Given the description of an element on the screen output the (x, y) to click on. 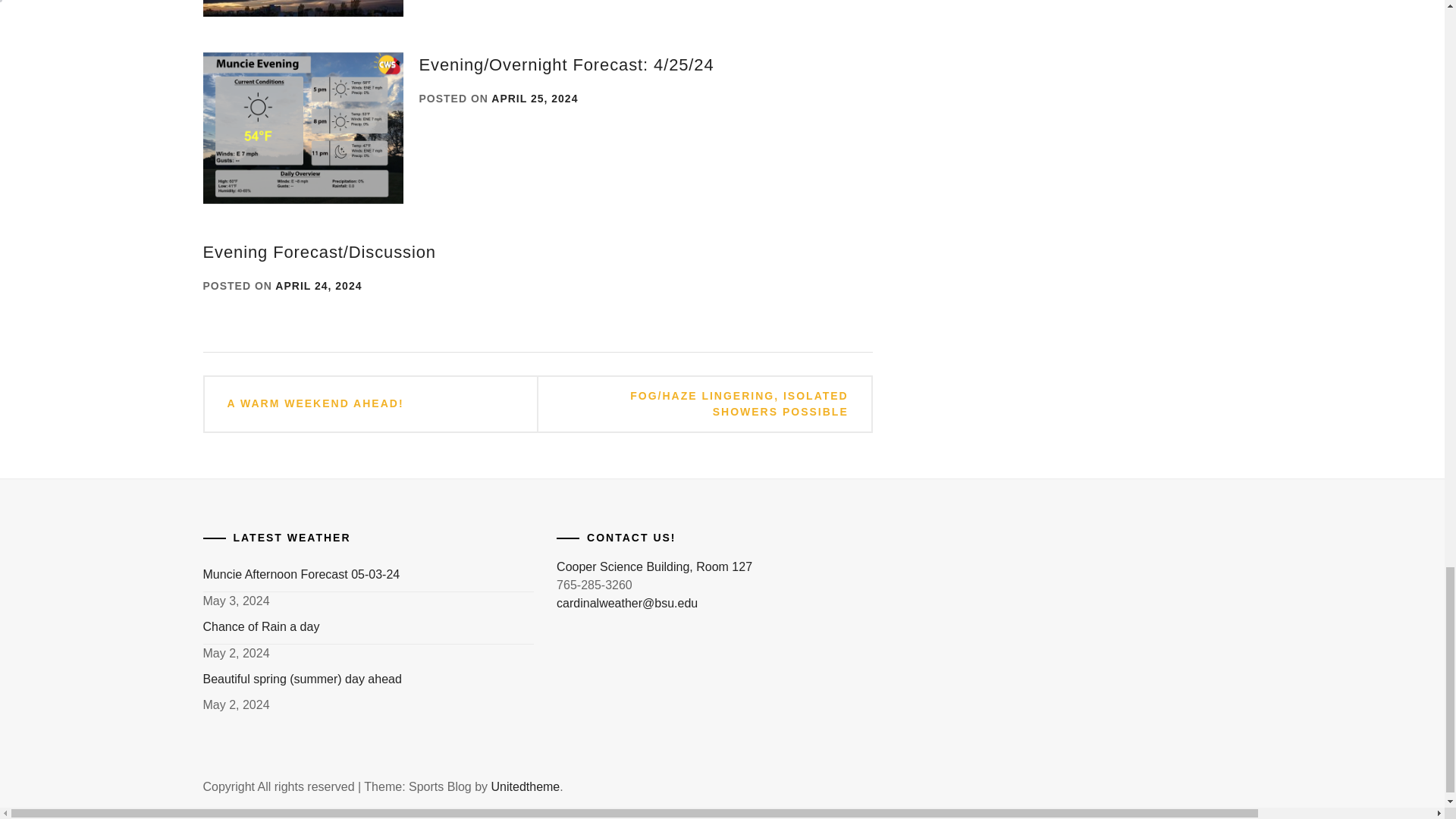
APRIL 25, 2024 (535, 98)
A WARM WEEKEND AHEAD! (314, 403)
APRIL 24, 2024 (318, 285)
